Given the description of an element on the screen output the (x, y) to click on. 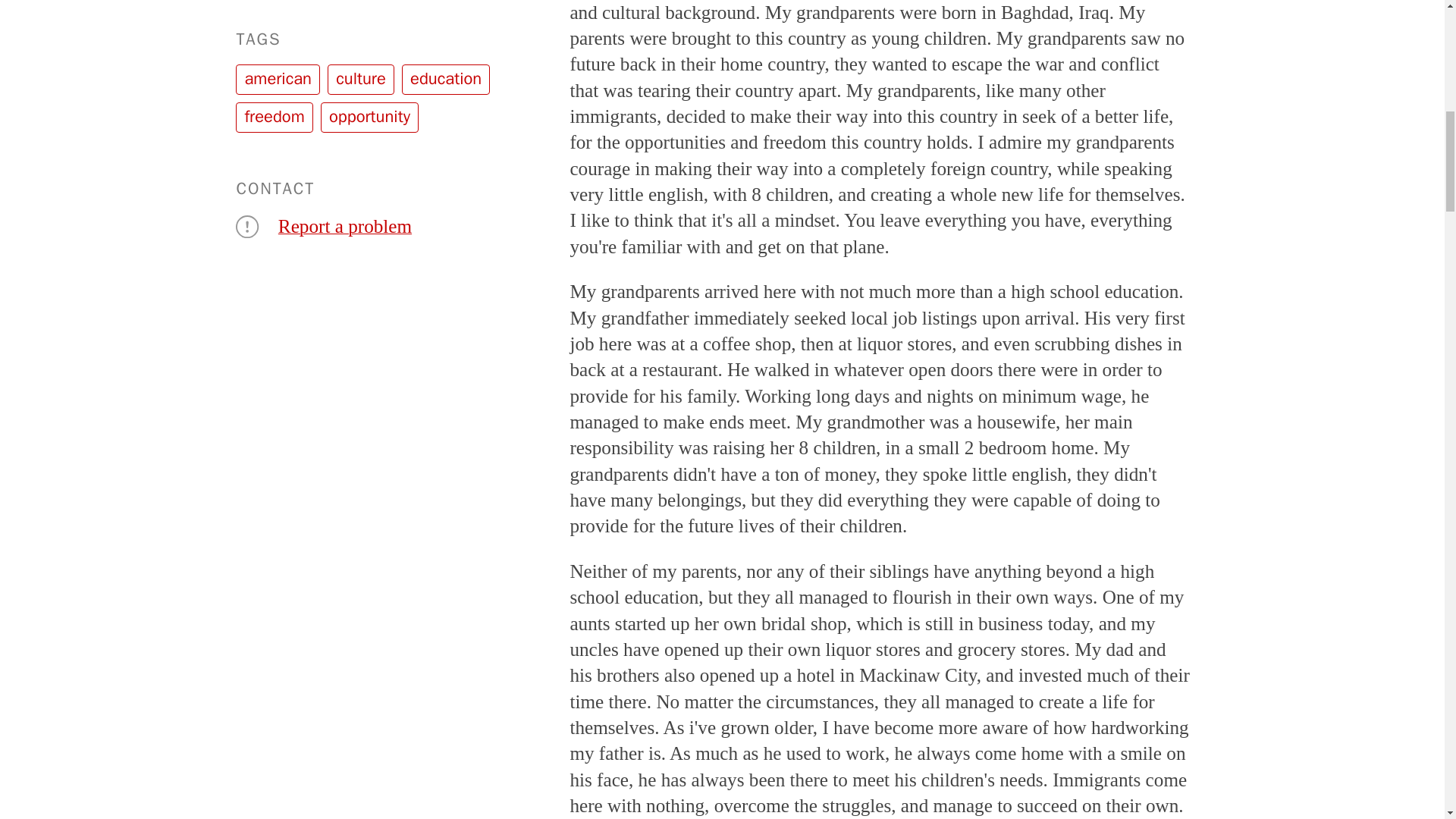
culture (360, 79)
opportunity (369, 117)
education (445, 79)
freedom (274, 117)
american (277, 79)
Report a problem (345, 226)
